Given the description of an element on the screen output the (x, y) to click on. 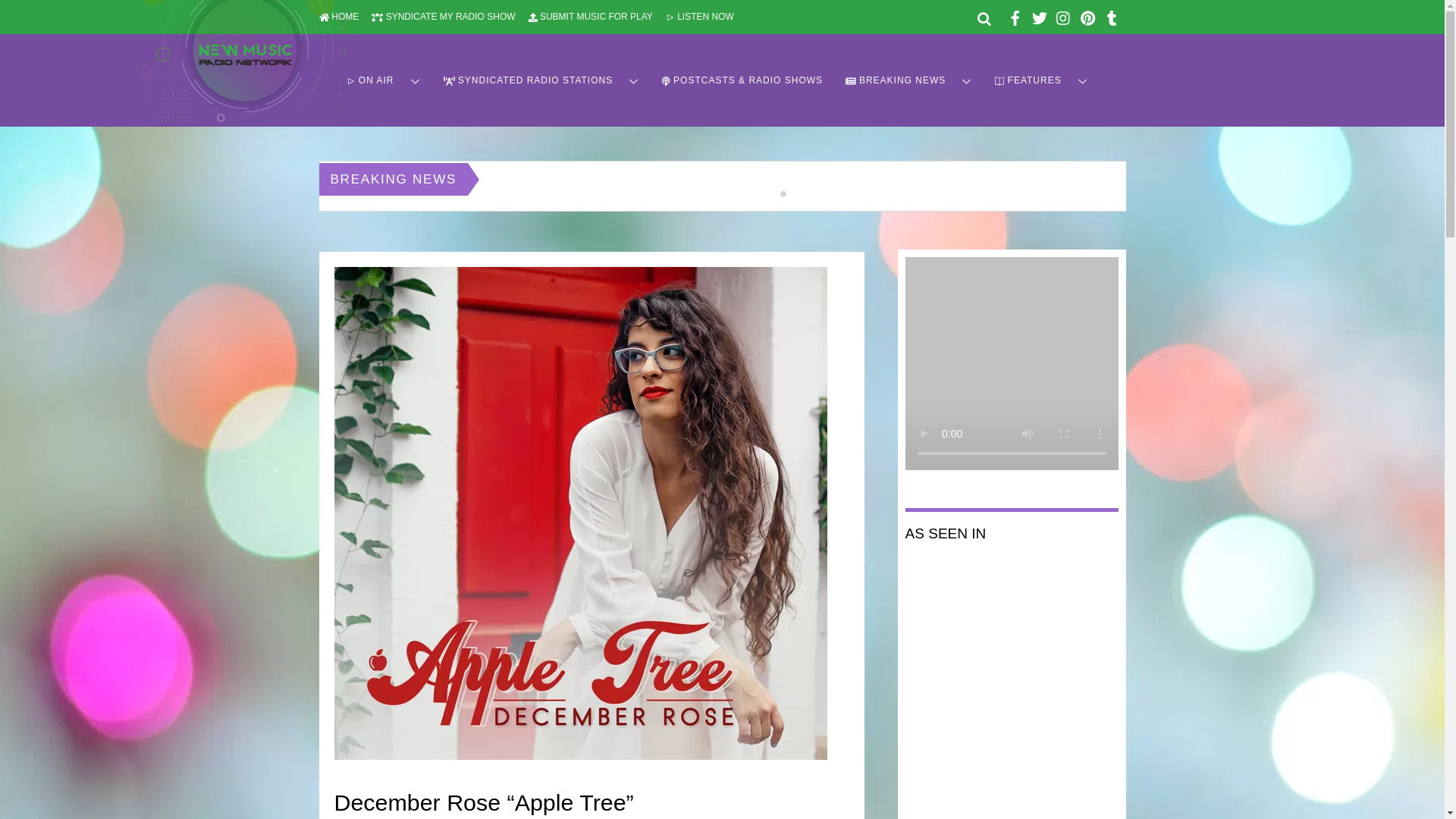
HOME (338, 16)
FEATURES (1041, 80)
BREAKING NEWS (909, 80)
SUBMIT MUSIC FOR PLAY (590, 16)
new-music-radio-network-logo (242, 61)
New Music Radio Network (242, 114)
SYNDICATED RADIO STATIONS (541, 80)
SYNDICATE MY RADIO SHOW (443, 16)
LISTEN NOW (699, 16)
